Given the description of an element on the screen output the (x, y) to click on. 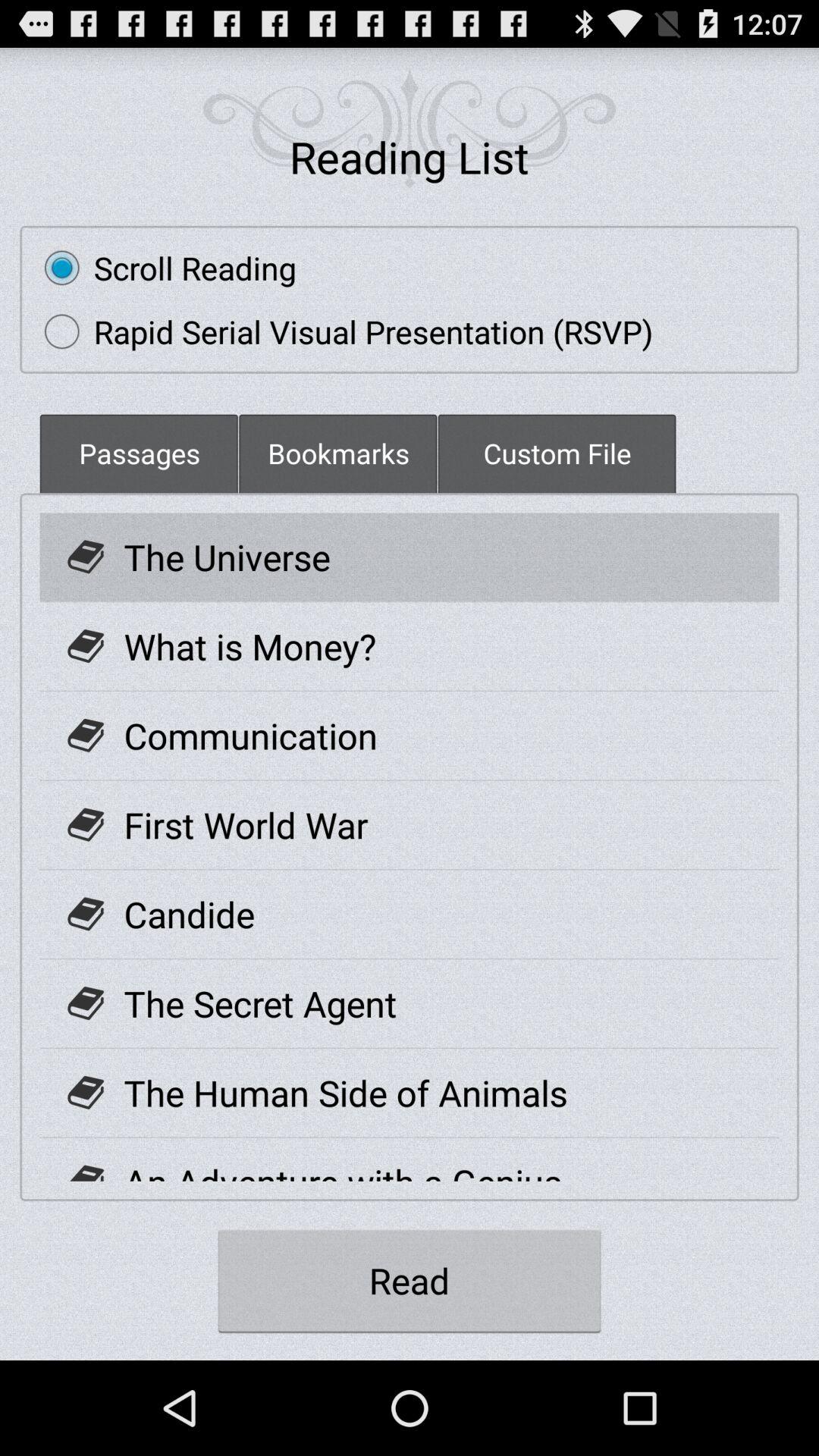
open the communication item (250, 735)
